Given the description of an element on the screen output the (x, y) to click on. 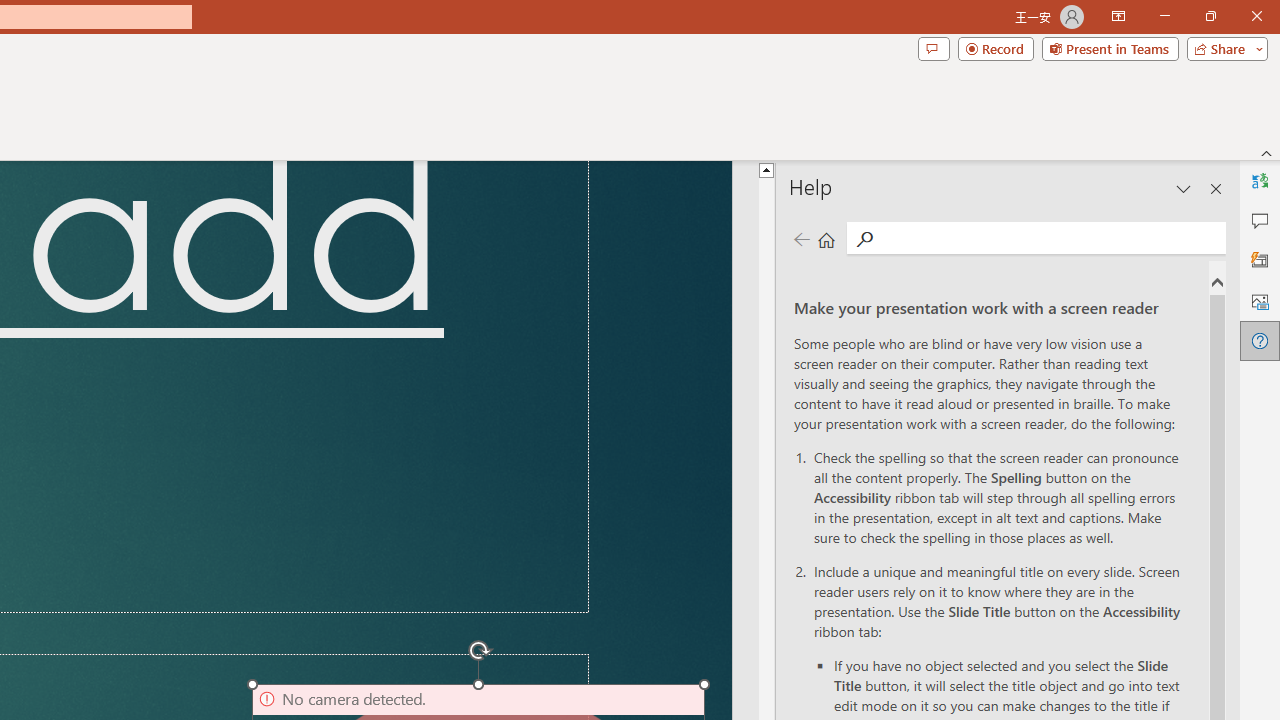
Alt Text (1260, 300)
Previous page (801, 238)
